Given the description of an element on the screen output the (x, y) to click on. 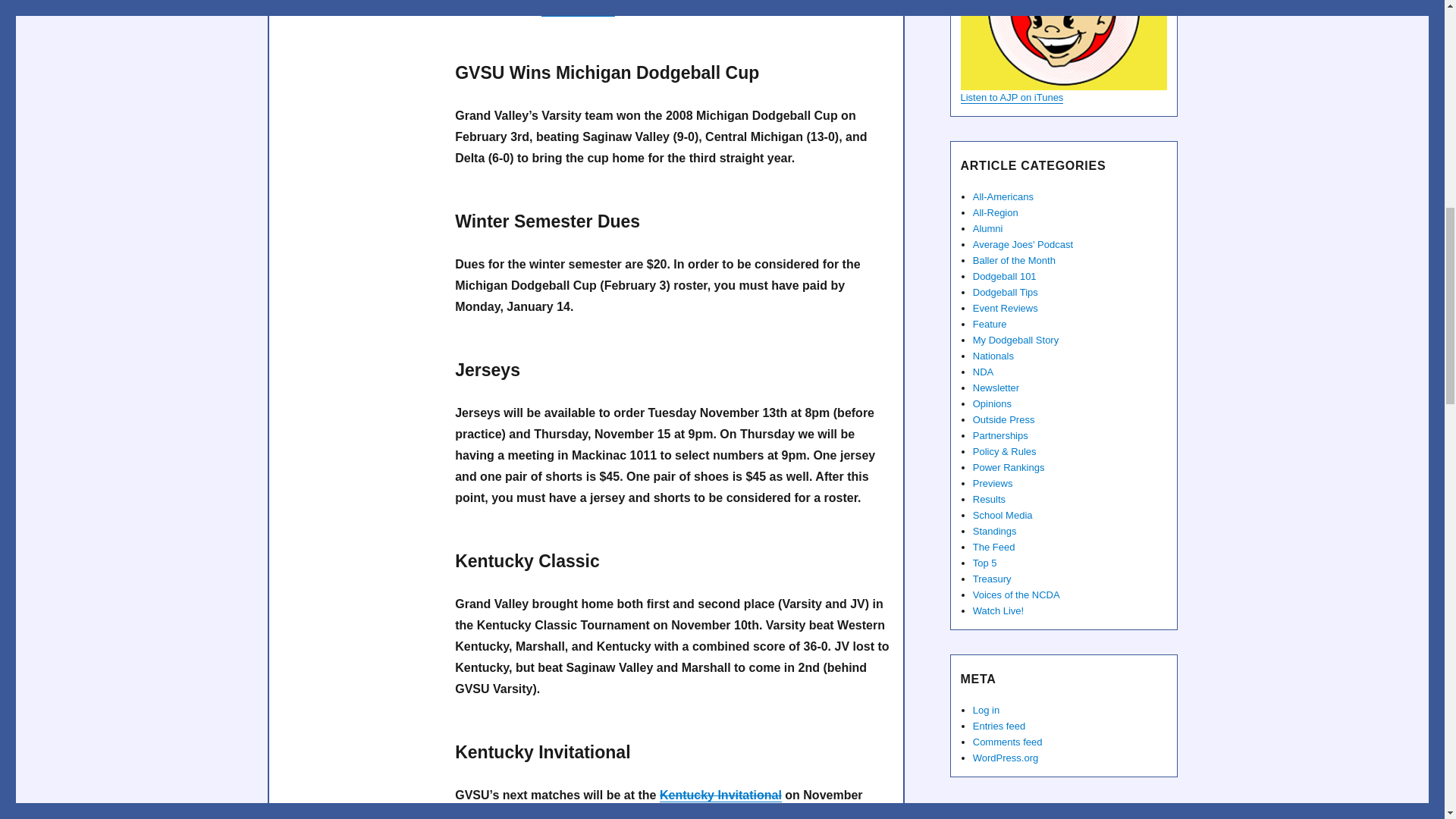
Facebook Event (720, 794)
Average Joes' Podcast (1062, 45)
Alex Soukup (577, 9)
